Given the description of an element on the screen output the (x, y) to click on. 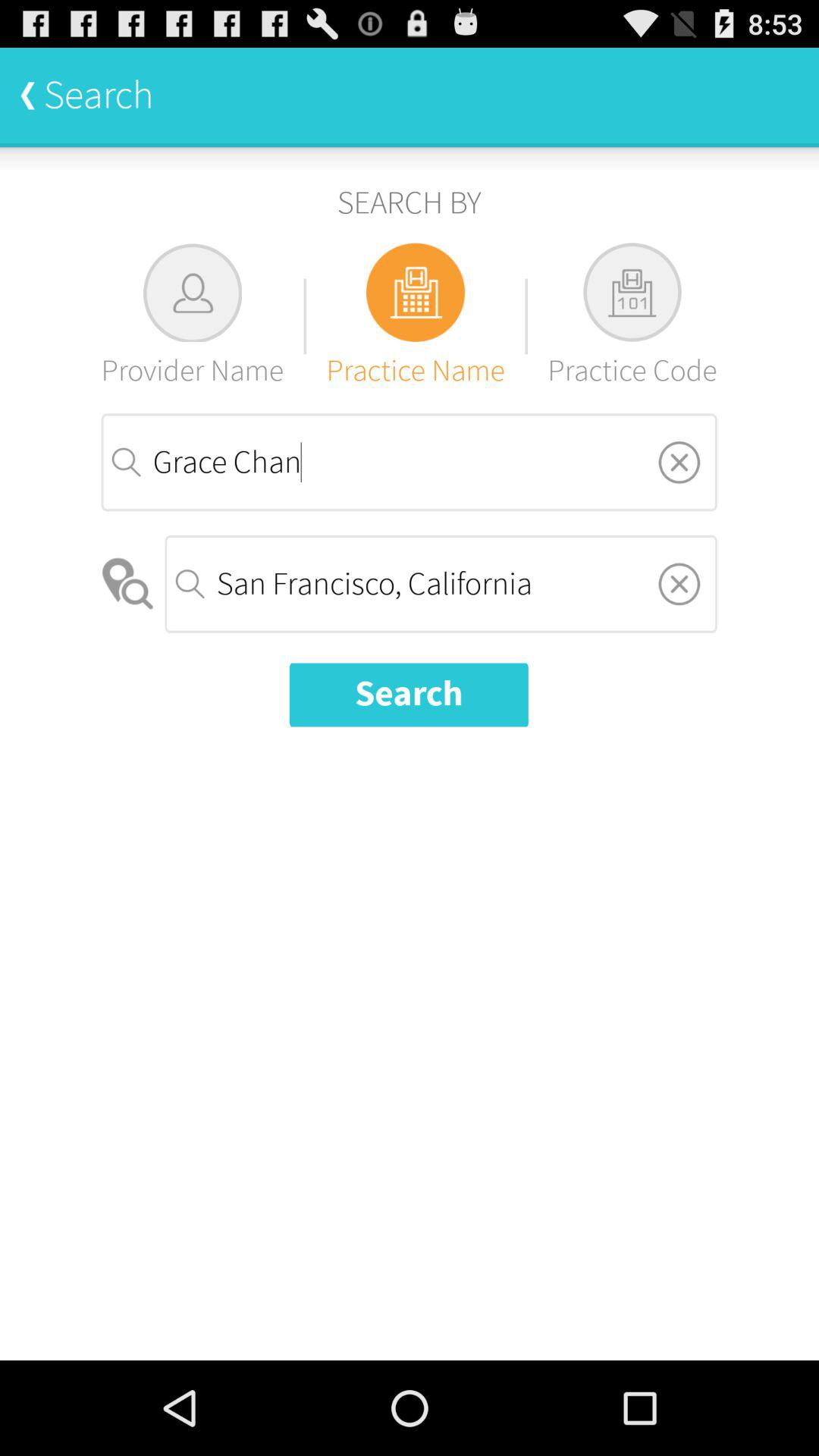
turn off the provider name item (192, 316)
